Given the description of an element on the screen output the (x, y) to click on. 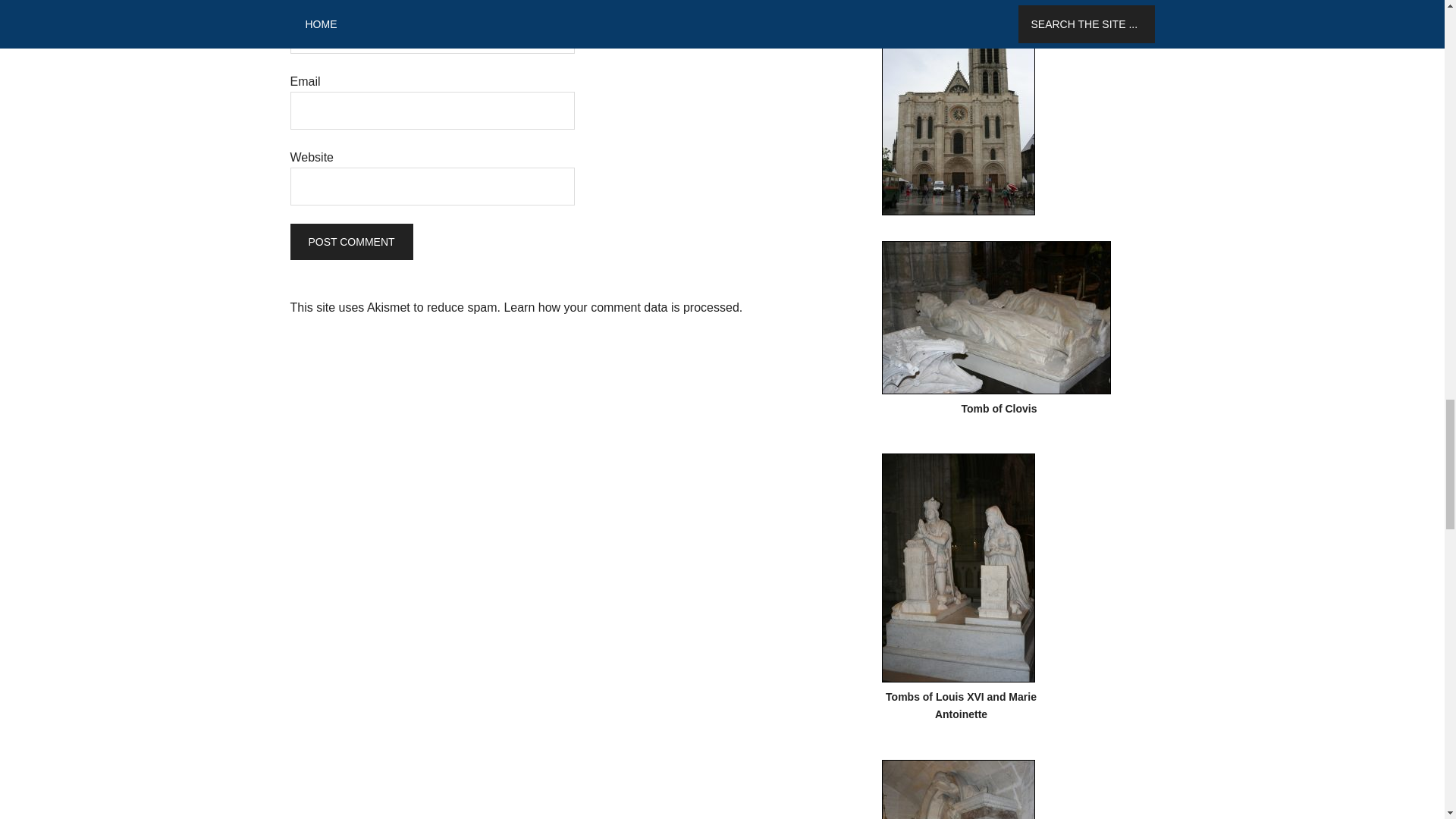
Post Comment (350, 241)
